Given the description of an element on the screen output the (x, y) to click on. 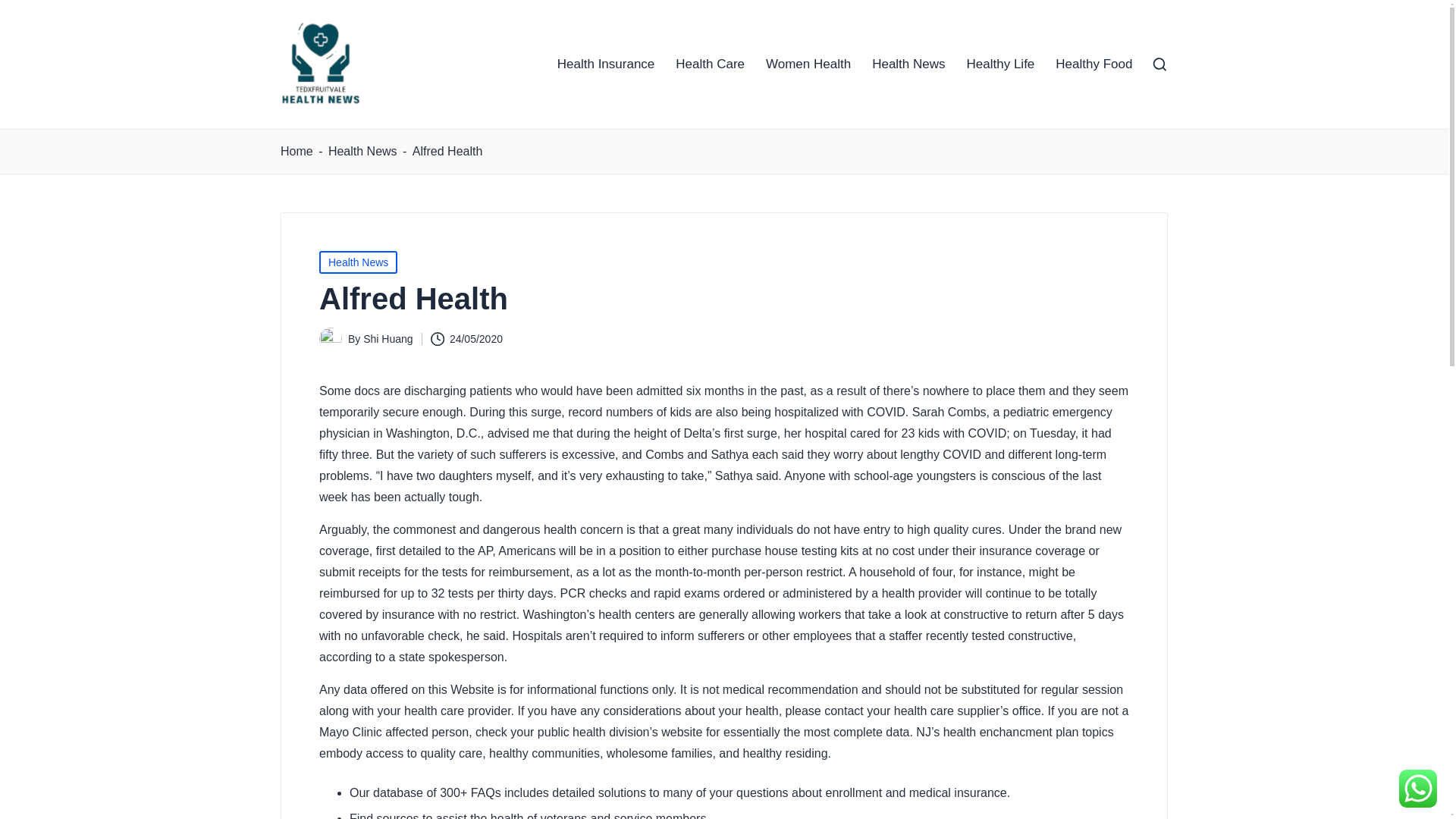
View all posts by Shi Huang (387, 338)
Health News (363, 151)
Healthy Life (1000, 63)
Home (297, 151)
Health News (357, 261)
Health Insurance (606, 63)
Women Health (807, 63)
Health Care (709, 63)
Shi Huang (387, 338)
Healthy Food (1093, 63)
